Given the description of an element on the screen output the (x, y) to click on. 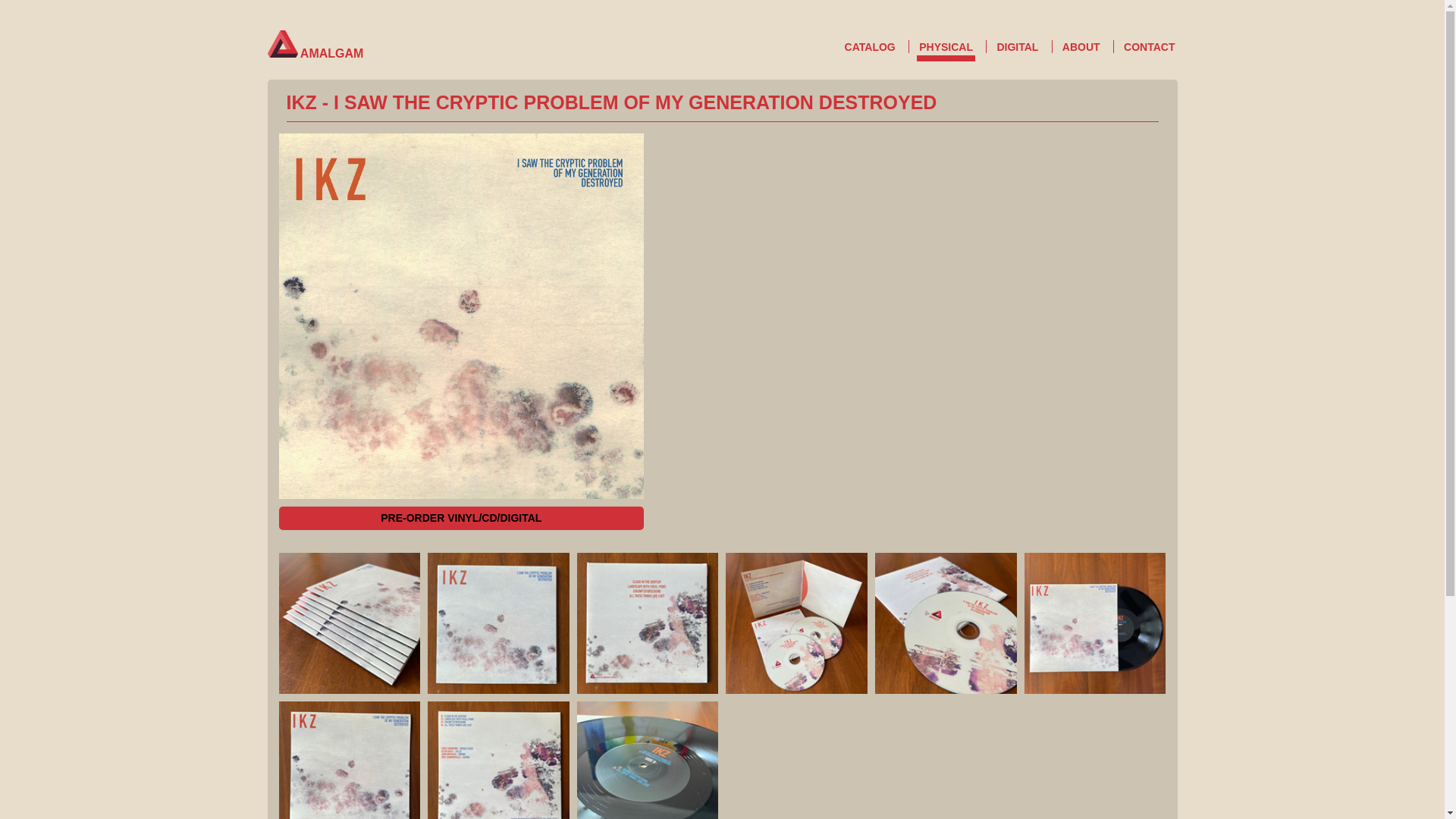
ABOUT (1080, 46)
DIGITAL (1017, 46)
Amalgam (281, 43)
CONTACT (1148, 46)
CATALOG (870, 46)
PHYSICAL (946, 49)
